Given the description of an element on the screen output the (x, y) to click on. 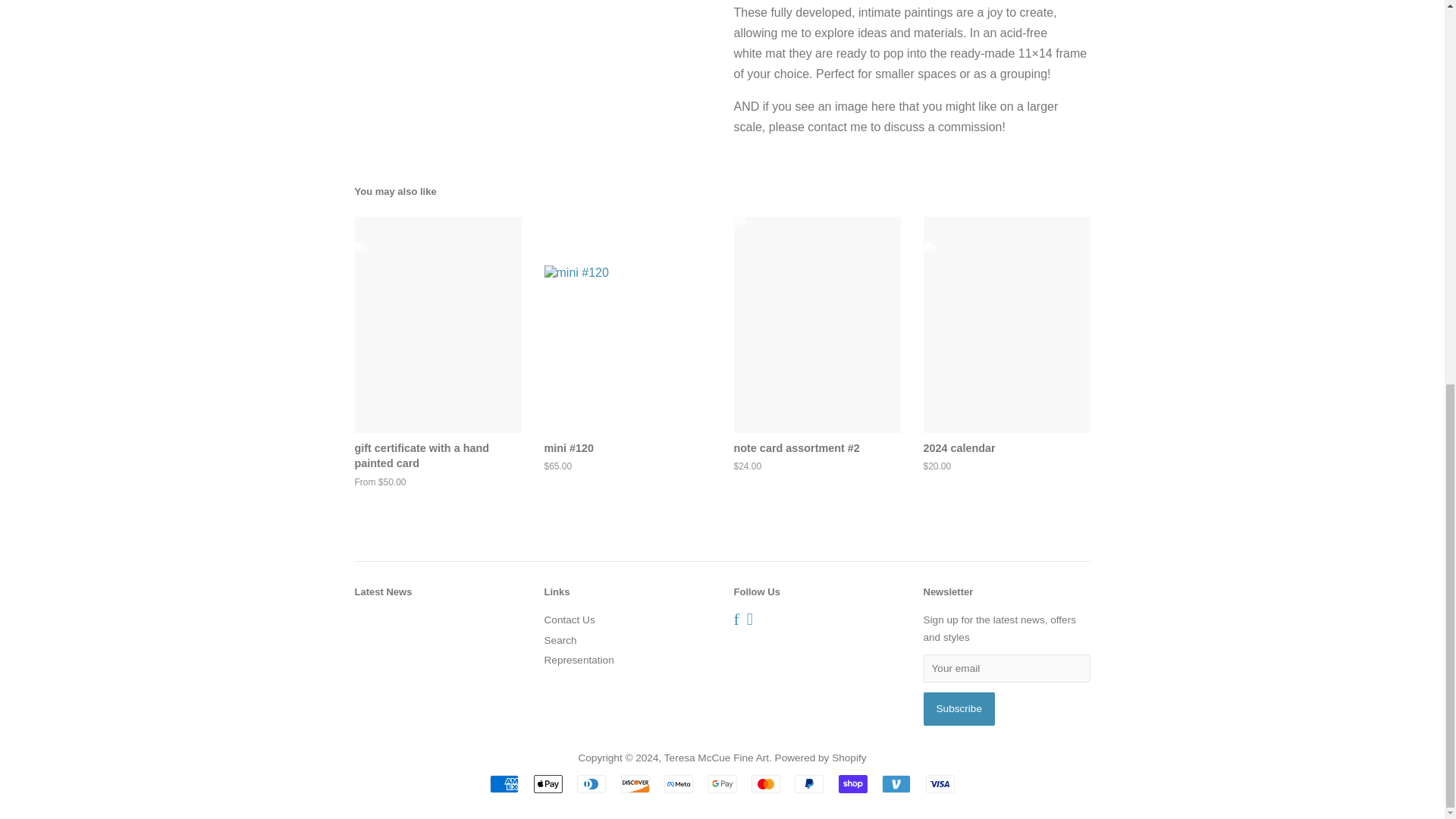
Venmo (896, 783)
Meta Pay (678, 783)
Google Pay (721, 783)
Shop Pay (852, 783)
PayPal (809, 783)
Subscribe (958, 708)
Mastercard (765, 783)
Discover (635, 783)
Diners Club (590, 783)
American Express (503, 783)
